Given the description of an element on the screen output the (x, y) to click on. 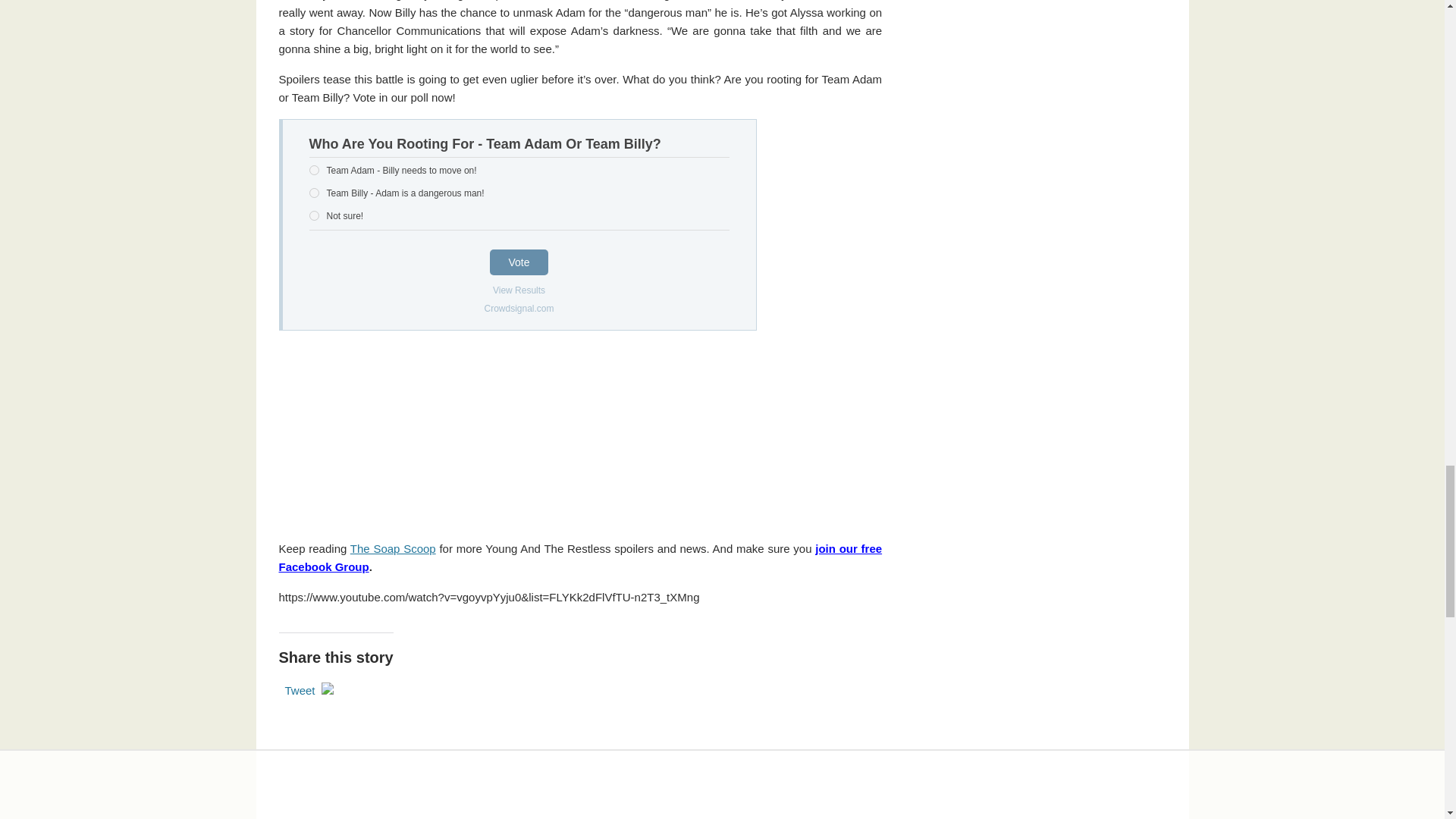
49154573 (313, 193)
49154572 (313, 170)
49154574 (313, 215)
